Given the description of an element on the screen output the (x, y) to click on. 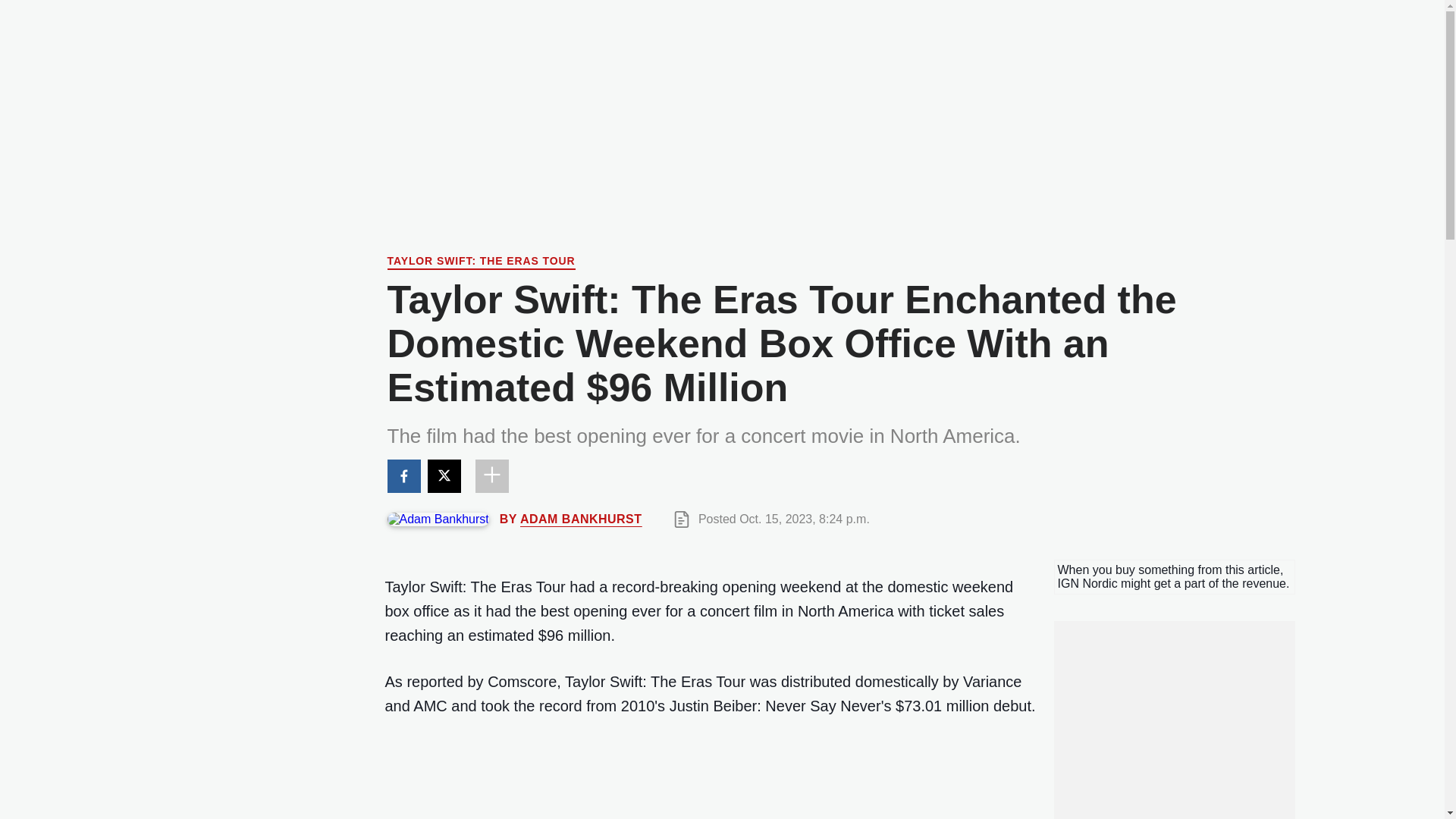
Taylor Swift: The Eras Tour (481, 262)
TAYLOR SWIFT: THE ERAS TOUR (481, 262)
ADAM BANKHURST (580, 518)
